Given the description of an element on the screen output the (x, y) to click on. 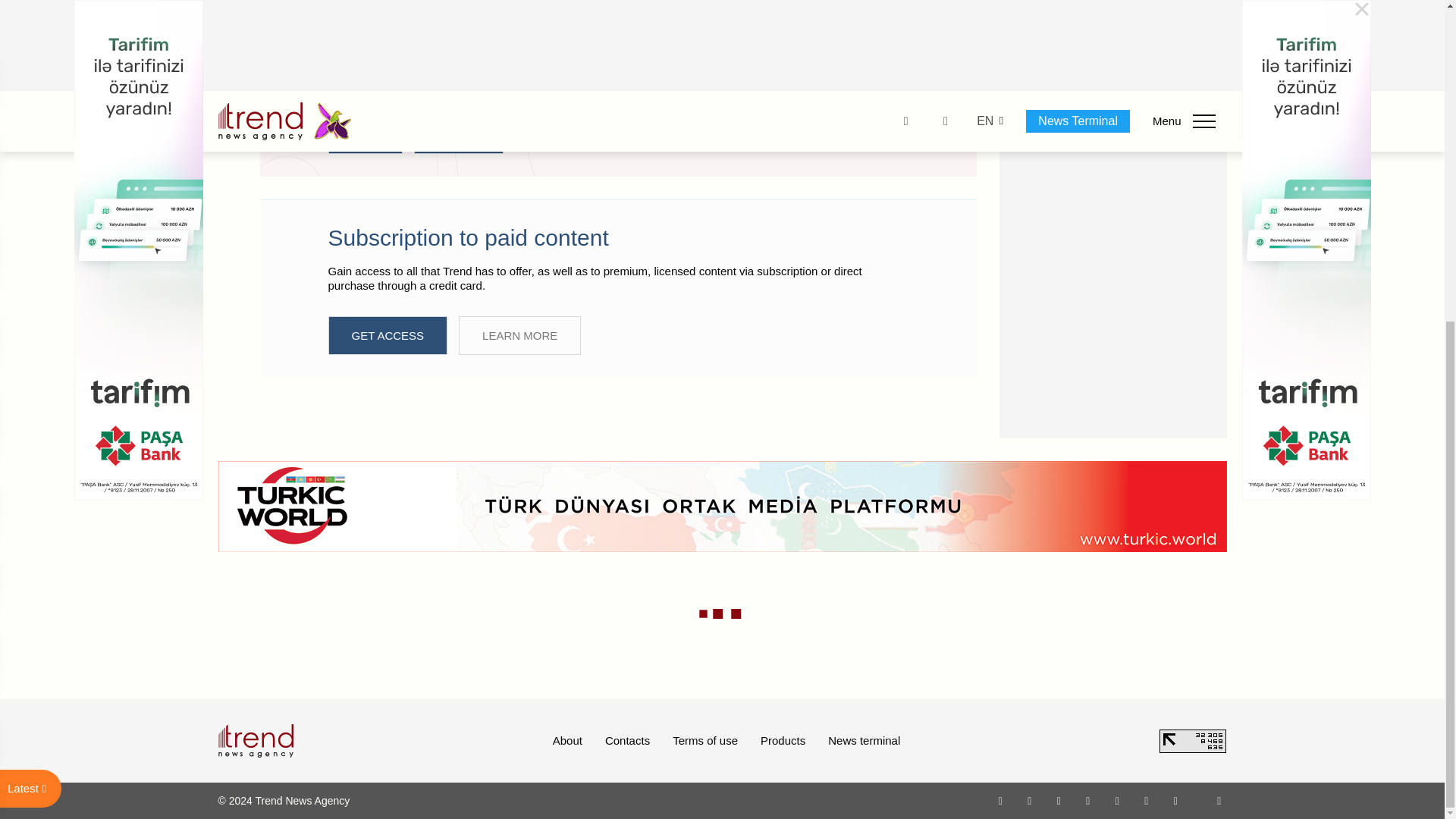
Whatsapp (1000, 800)
Android App (1176, 800)
Telegram (1117, 800)
3rd party ad content (1112, 53)
LinkedIn (1146, 800)
Facebook (1029, 800)
RSS Feed (1219, 800)
Twitter (1059, 800)
Youtube (1088, 800)
